Given the description of an element on the screen output the (x, y) to click on. 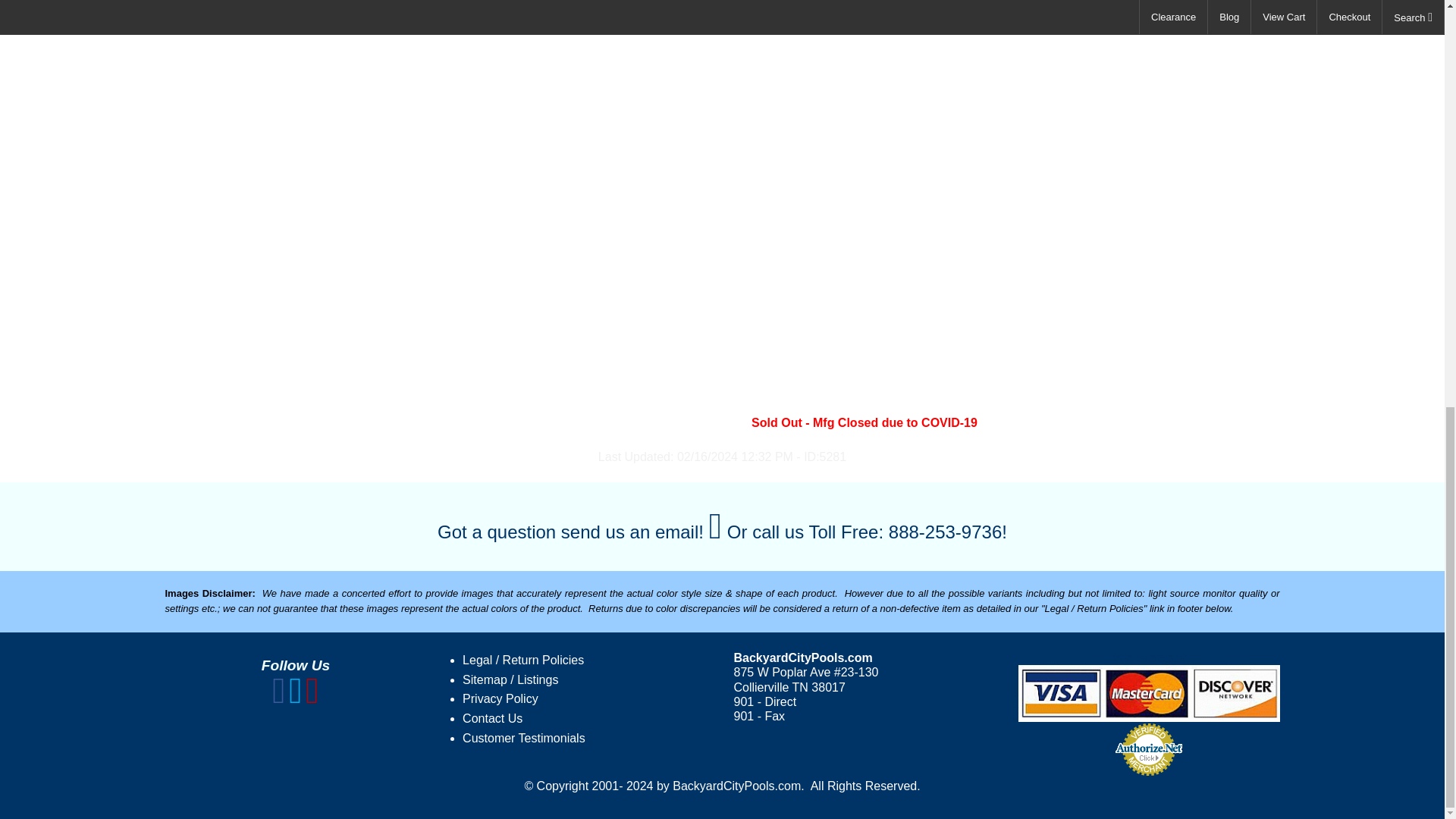
Categorized Sitemap to all Products (510, 679)
Tweet Us on Twitter! (295, 698)
Watch Us on YouTube! (311, 698)
Like Us on Facebook! (278, 698)
Our Contact information with a Map (492, 717)
Our Privacy Policy (500, 698)
What our customers have said about us. (524, 738)
